Given the description of an element on the screen output the (x, y) to click on. 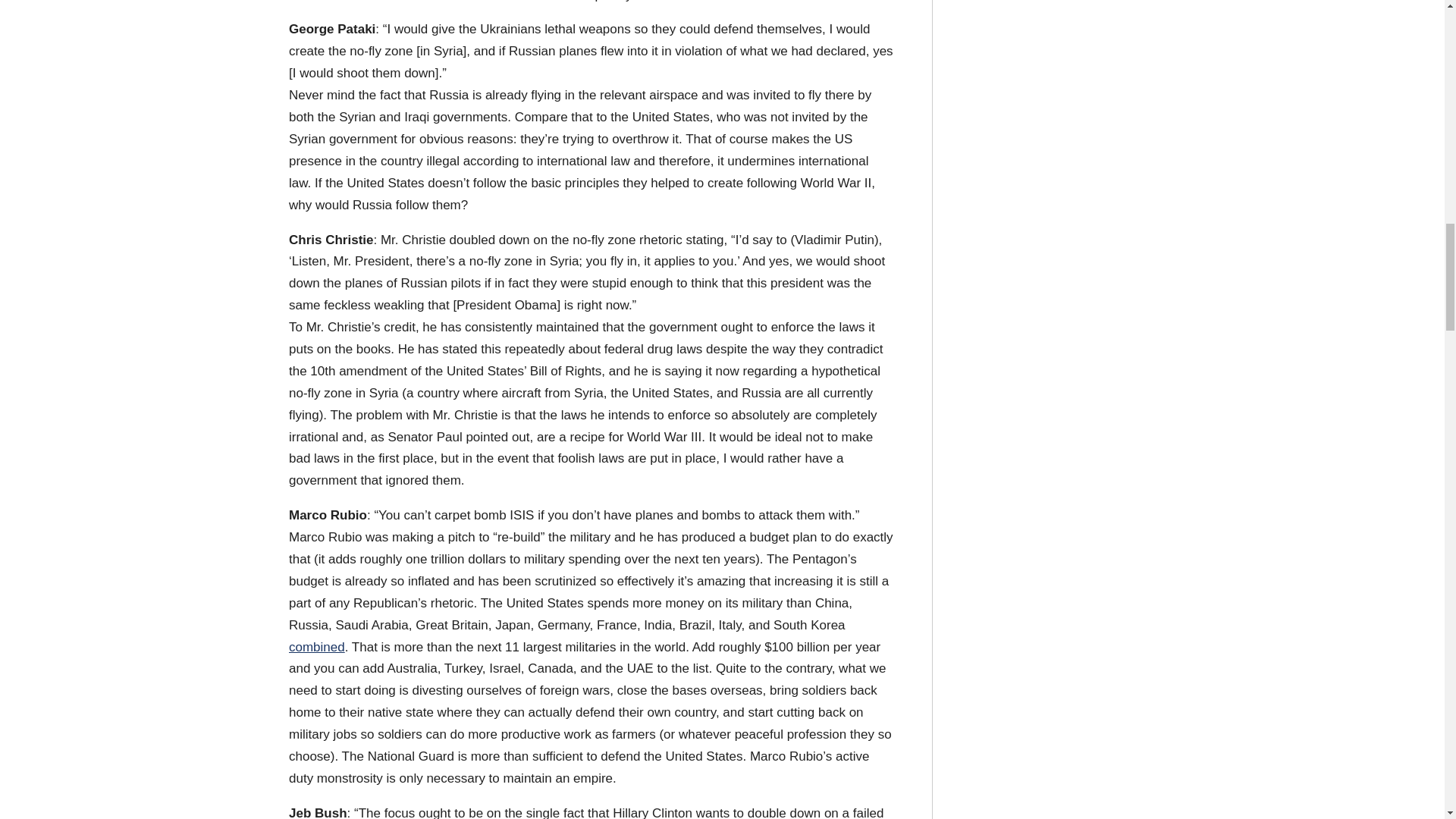
combined (316, 646)
